Given the description of an element on the screen output the (x, y) to click on. 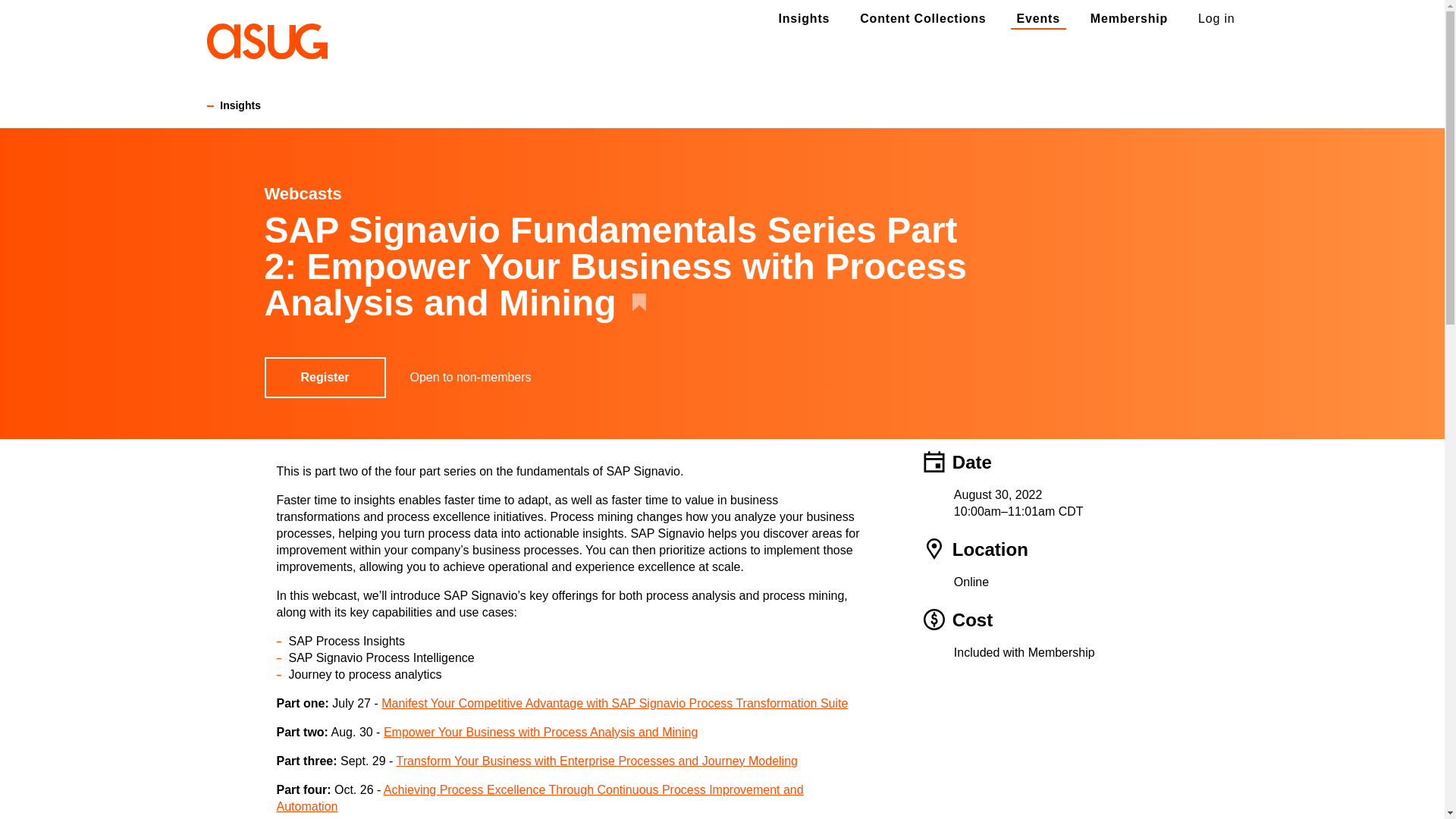
Content Collections (922, 18)
Insights (234, 105)
Events (1038, 18)
Log in (1215, 18)
Insights (803, 18)
Empower Your Business with Process Analysis and Mining (540, 731)
